Given the description of an element on the screen output the (x, y) to click on. 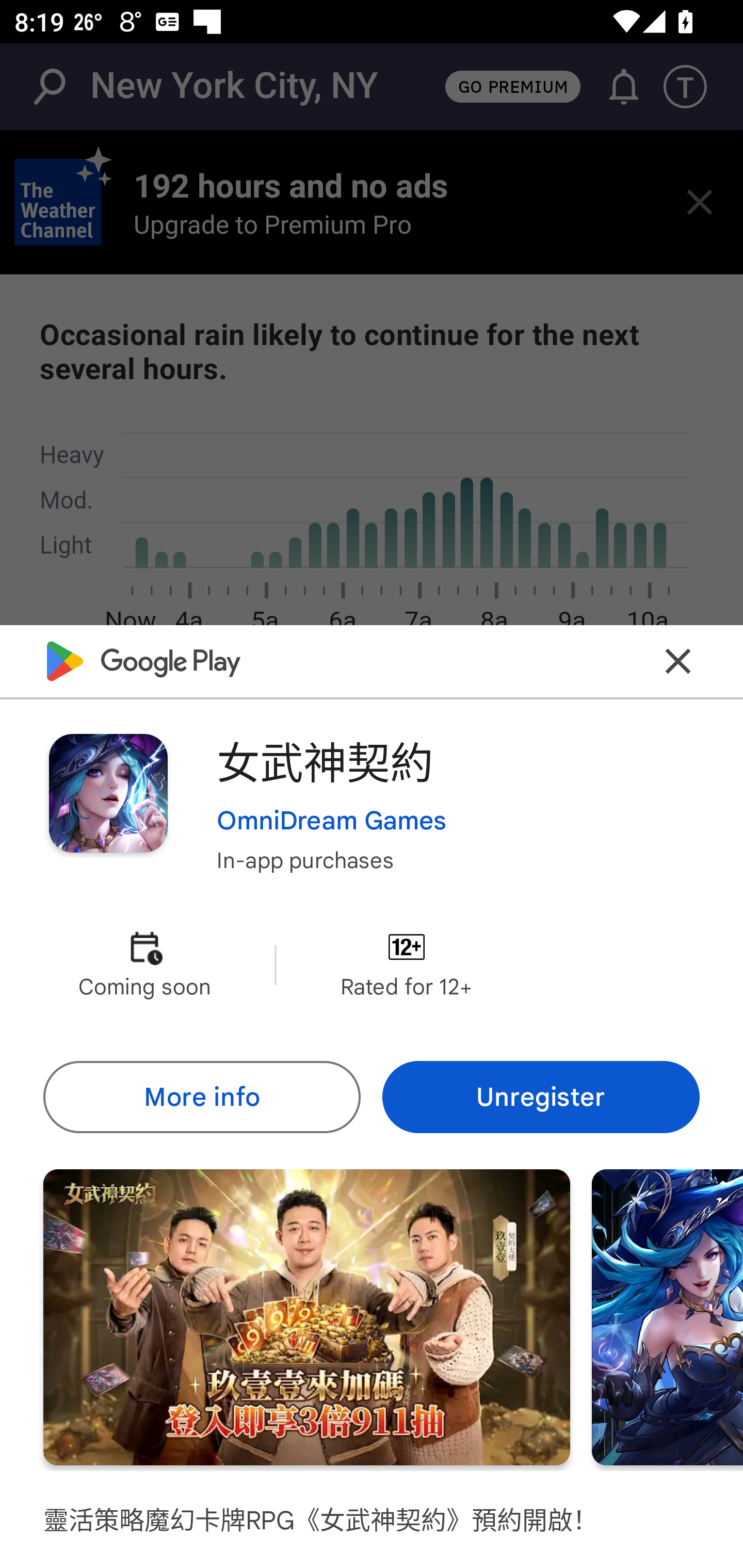
Close (677, 661)
Image of app or game icon for 女武神契約 (108, 792)
OmniDream Games (331, 820)
More info (201, 1097)
Unregister (540, 1097)
Screenshot "1" of "5" (306, 1317)
Screenshot "2" of "5" (667, 1317)
